Given the description of an element on the screen output the (x, y) to click on. 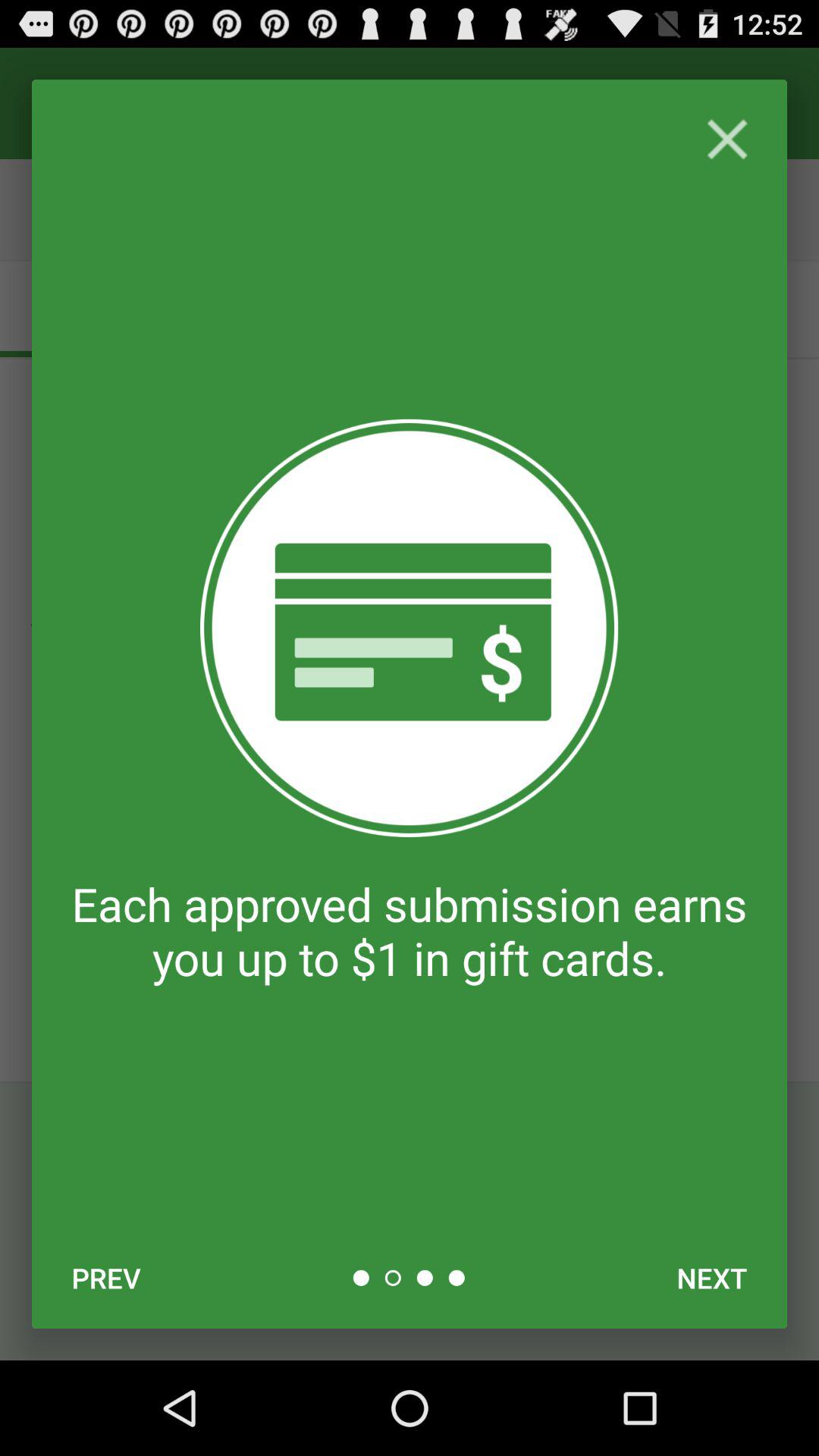
swipe until the prev item (105, 1277)
